Given the description of an element on the screen output the (x, y) to click on. 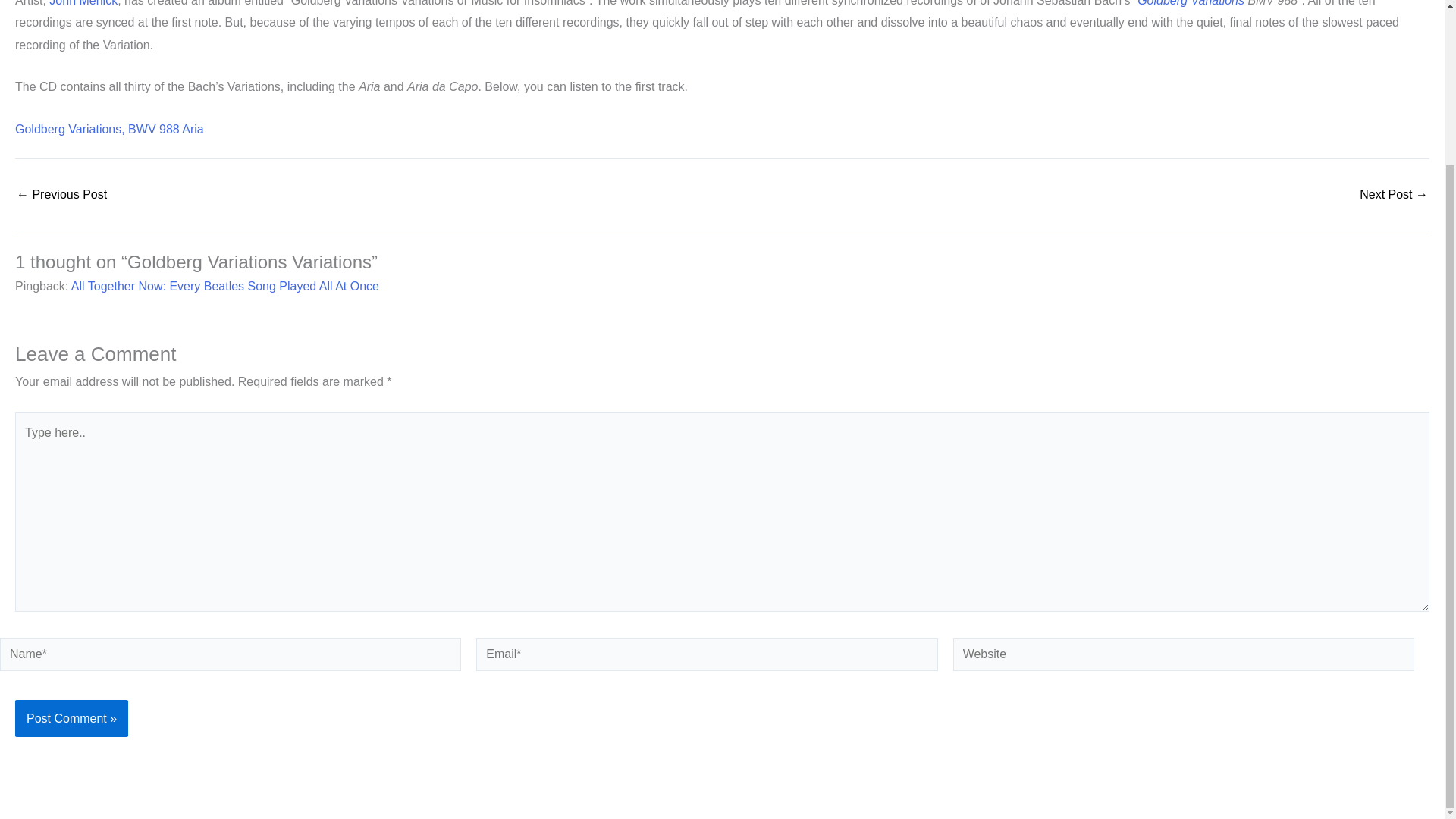
Tweets For The Week Of 2009-10-05 (61, 194)
Tweets For The Week Of 2009-10-12 (1393, 194)
All Together Now: Every Beatles Song Played All At Once (224, 286)
John Menick (83, 3)
Goldberg Variations, BWV 988 Aria (108, 128)
Goldberg Variations (1190, 3)
